Given the description of an element on the screen output the (x, y) to click on. 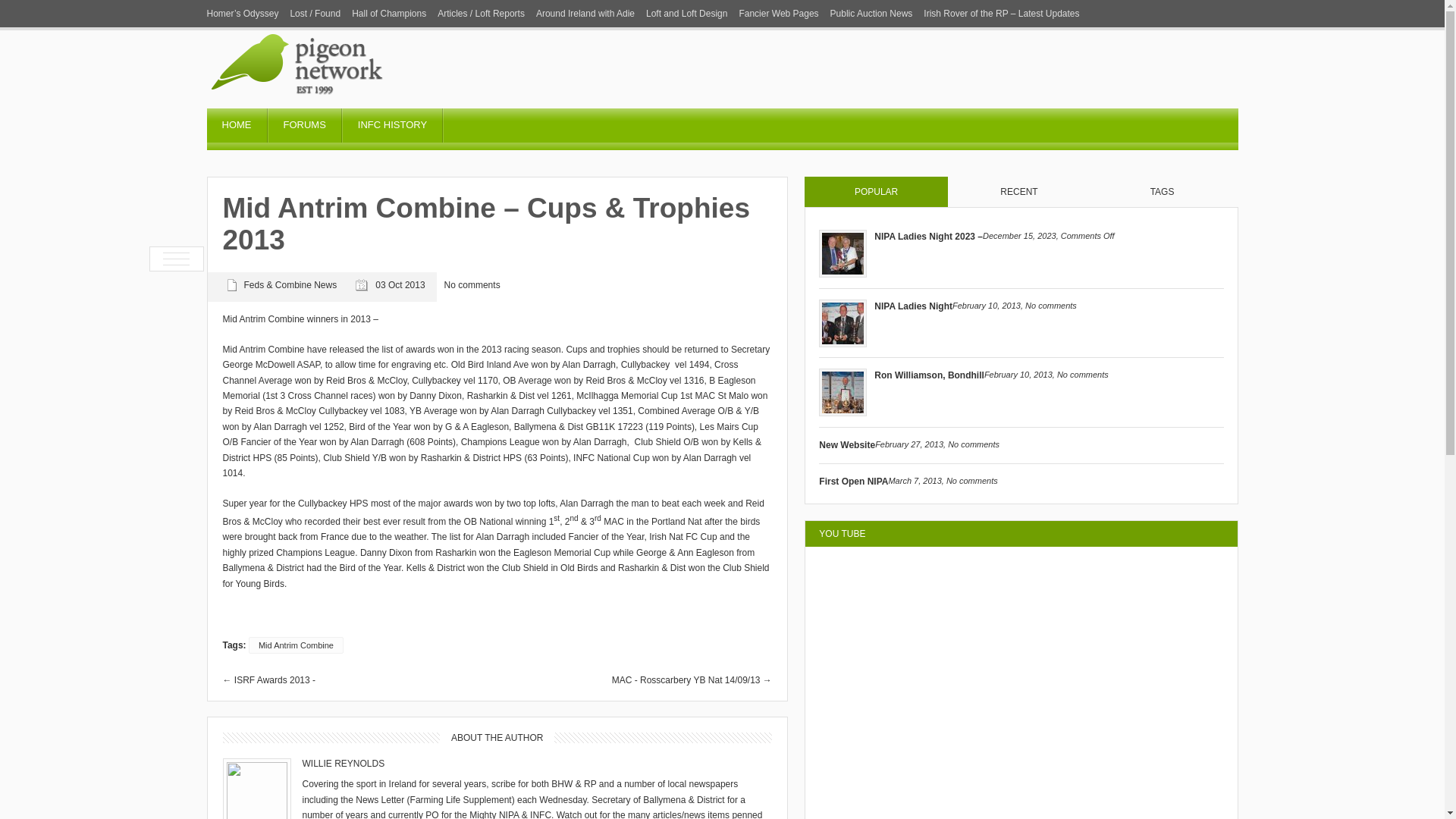
New Website (846, 444)
Hall of Champions (389, 13)
No comments (1082, 374)
Ron Williamson, Bondhill (842, 392)
NIPA Ladies Night (842, 344)
Loft and Loft Design (686, 13)
Ron Williamson, Bondhill (929, 375)
NIPA Ladies Night (913, 306)
RECENT (1018, 191)
FORUMS (303, 130)
Pigeon Network - The Number One Online Pigeon Market (357, 102)
TAGS (1161, 191)
INFC HISTORY (392, 130)
First Open NIPA (853, 480)
Ron Williamson, Bondhill (842, 412)
